Given the description of an element on the screen output the (x, y) to click on. 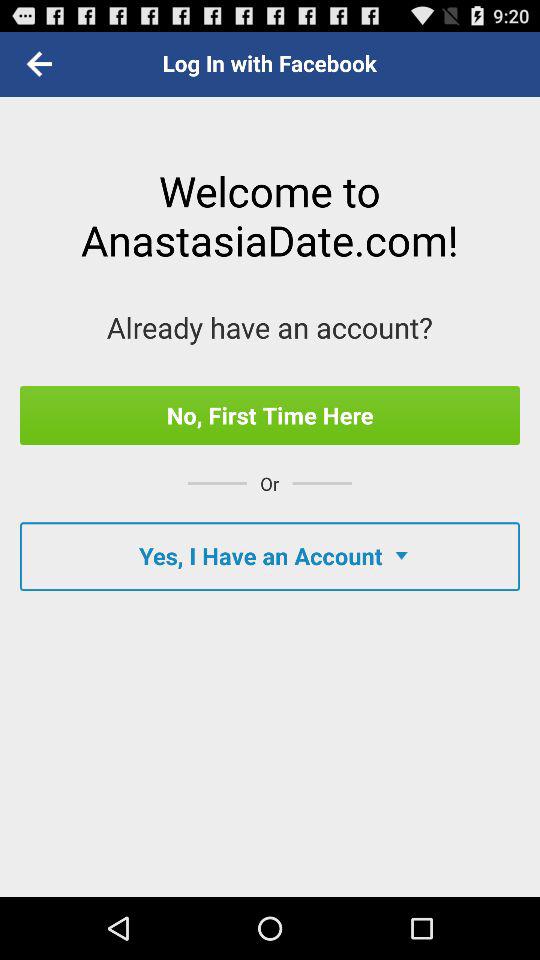
click the item below the already have an (269, 415)
